Given the description of an element on the screen output the (x, y) to click on. 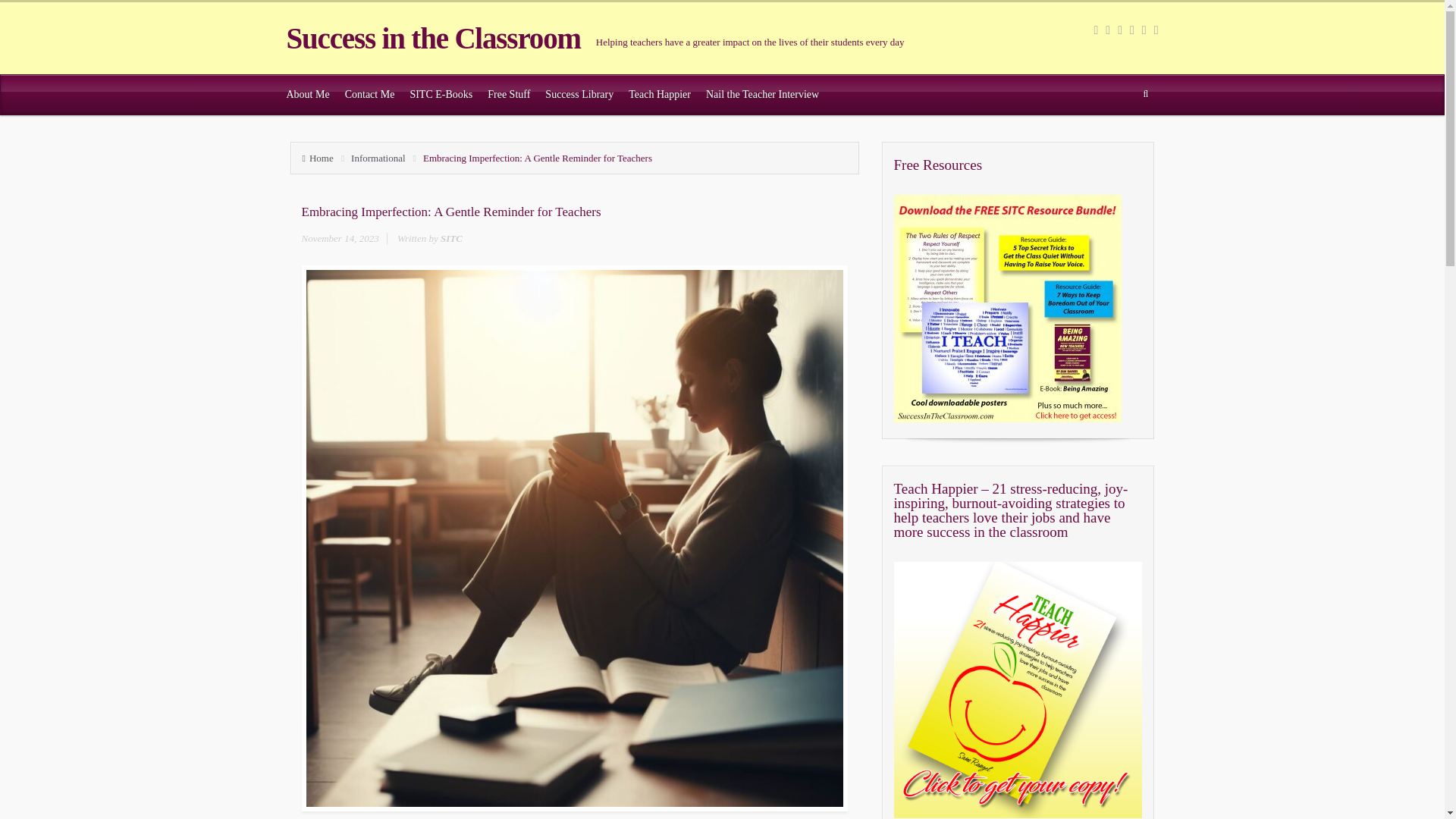
Nail the Teacher Interview (762, 94)
Nail the Teacher Interview (762, 94)
Success in the Classroom (433, 38)
View all posts by SITC (452, 238)
Home (320, 157)
Teach Happier (659, 94)
SITC (452, 238)
Contact Me (370, 94)
Informational (381, 157)
Teach Happier (659, 94)
About Me (308, 94)
Success Library (579, 94)
SITC E-Books (440, 94)
Informational (381, 157)
About Me (308, 94)
